Given the description of an element on the screen output the (x, y) to click on. 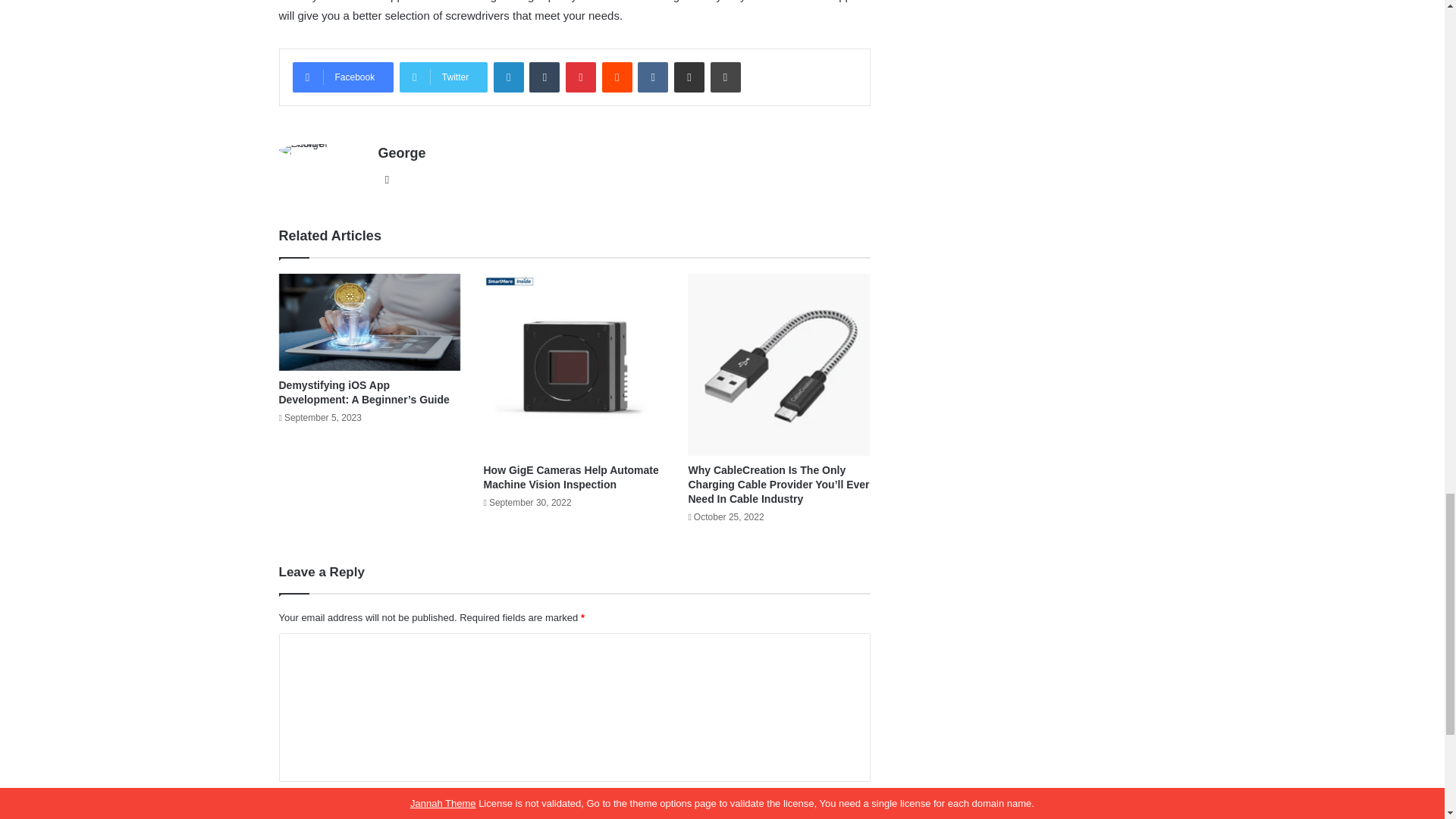
Pinterest (580, 77)
George (401, 152)
Reddit (616, 77)
LinkedIn (508, 77)
LinkedIn (508, 77)
Tumblr (544, 77)
Facebook (343, 77)
Share via Email (689, 77)
Print (725, 77)
How GigE Cameras Help Automate Machine Vision Inspection (570, 477)
Website (386, 179)
Reddit (616, 77)
Print (725, 77)
Twitter (442, 77)
Twitter (442, 77)
